Given the description of an element on the screen output the (x, y) to click on. 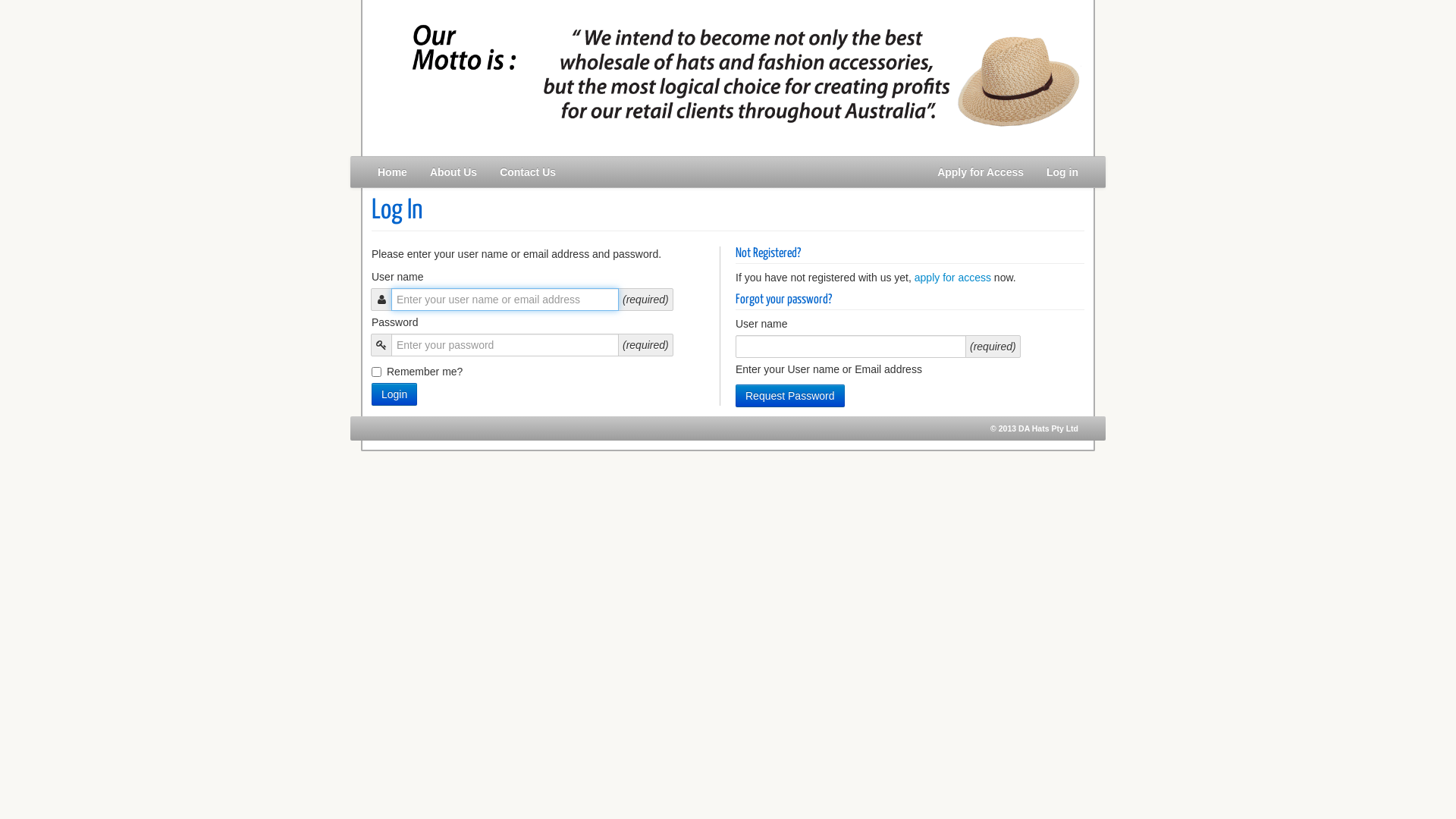
Login Element type: text (394, 393)
About Us Element type: text (453, 171)
Apply for Access Element type: text (980, 171)
Contact Us Element type: text (527, 171)
DA Hats Pty Ltd Element type: text (1048, 428)
Log in Element type: text (1062, 171)
apply for access Element type: text (952, 277)
Home Element type: text (392, 171)
Request Password Element type: text (789, 395)
